Given the description of an element on the screen output the (x, y) to click on. 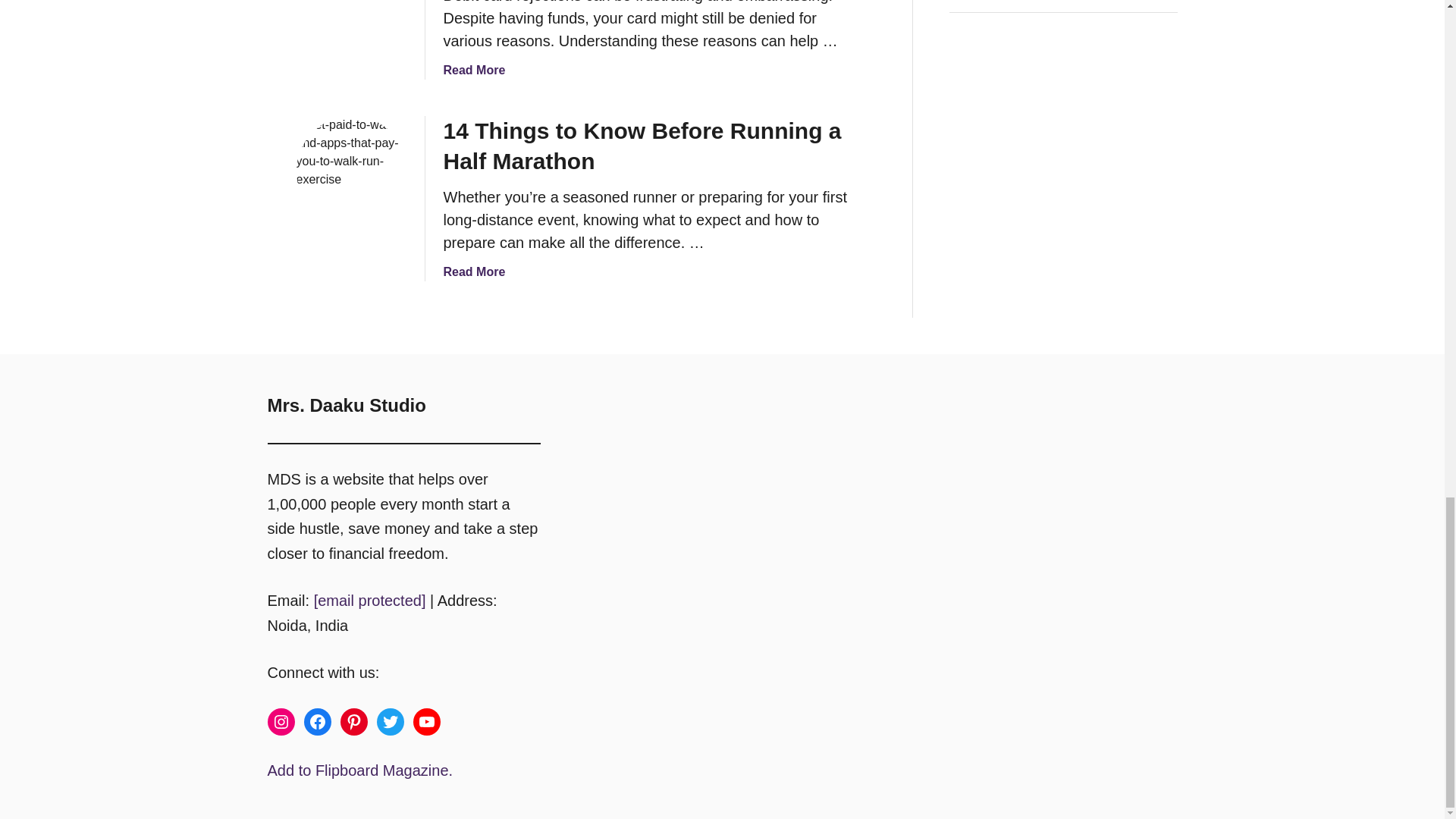
14 Things to Know Before Running a Half Marathon (350, 171)
